Given the description of an element on the screen output the (x, y) to click on. 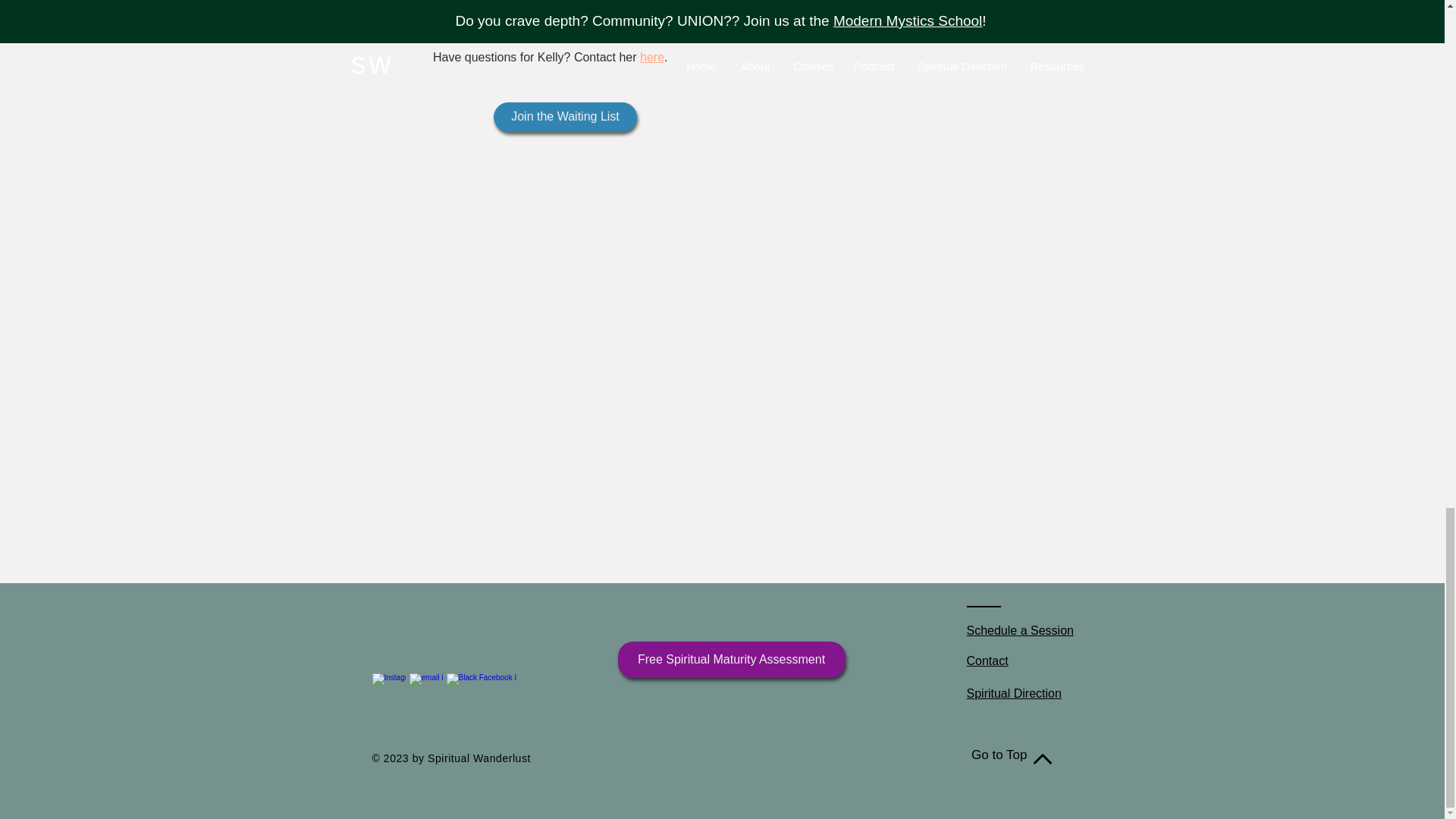
Free Spiritual Maturity Assessment (730, 659)
Spiritual Direction (1013, 693)
Contact (986, 660)
Join the Waiting List (565, 116)
here (651, 56)
Schedule a Session (1019, 630)
